Given the description of an element on the screen output the (x, y) to click on. 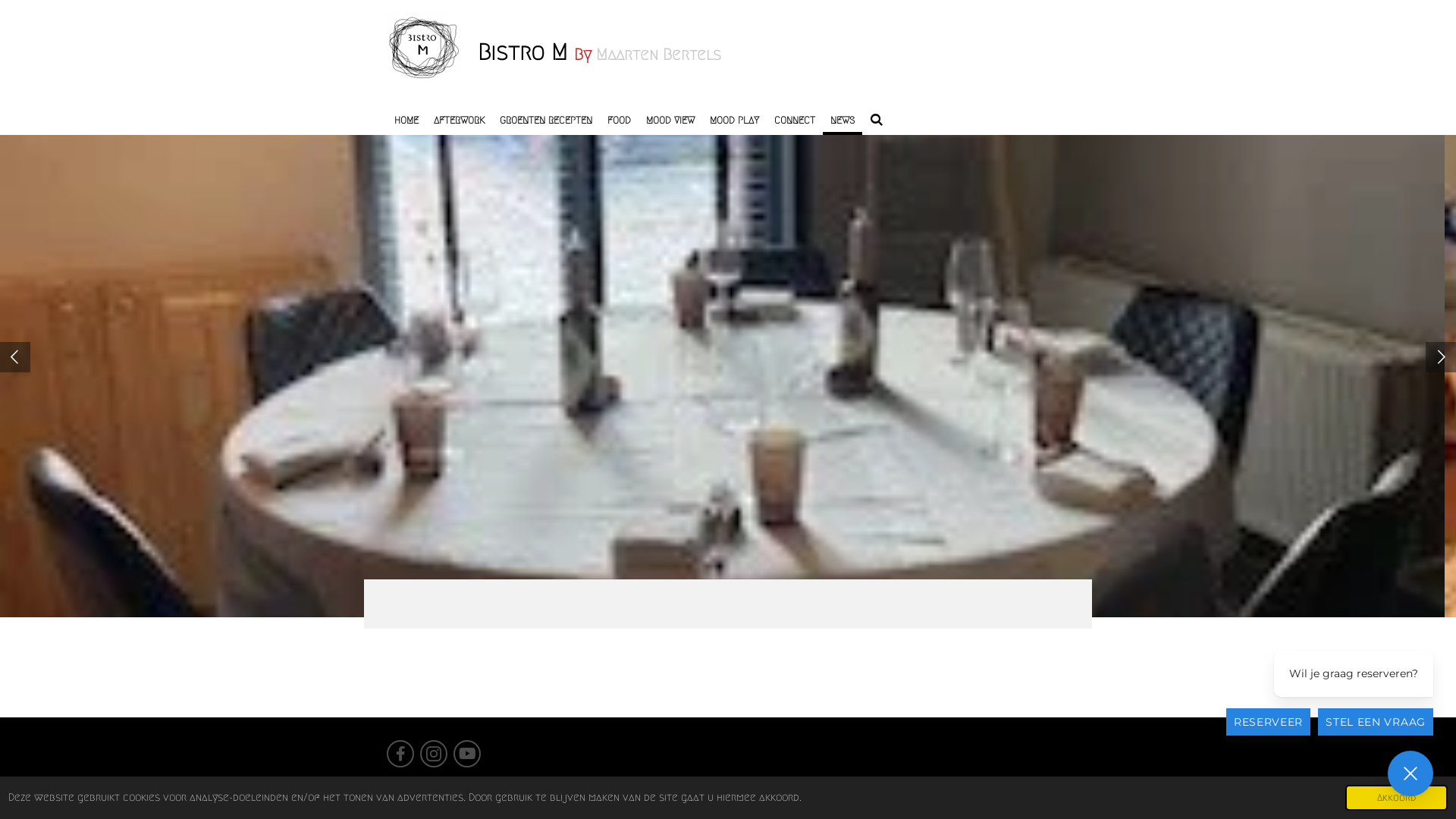
Akkoord Element type: text (1396, 797)
MOOD VIEW Element type: text (670, 120)
NEWS Element type: text (842, 120)
CONNECT Element type: text (794, 120)
MOOD PLAY Element type: text (734, 120)
GROENTEN RECEPTEN Element type: text (545, 120)
Bistro M Element type: hover (424, 49)
Bistro M By Maarten Bertels Element type: text (599, 51)
FOOD Element type: text (618, 120)
JouwWeb Element type: text (1050, 786)
AFTERWORK Element type: text (459, 120)
Zoeken Element type: hover (876, 120)
HOME Element type: text (406, 120)
